Given the description of an element on the screen output the (x, y) to click on. 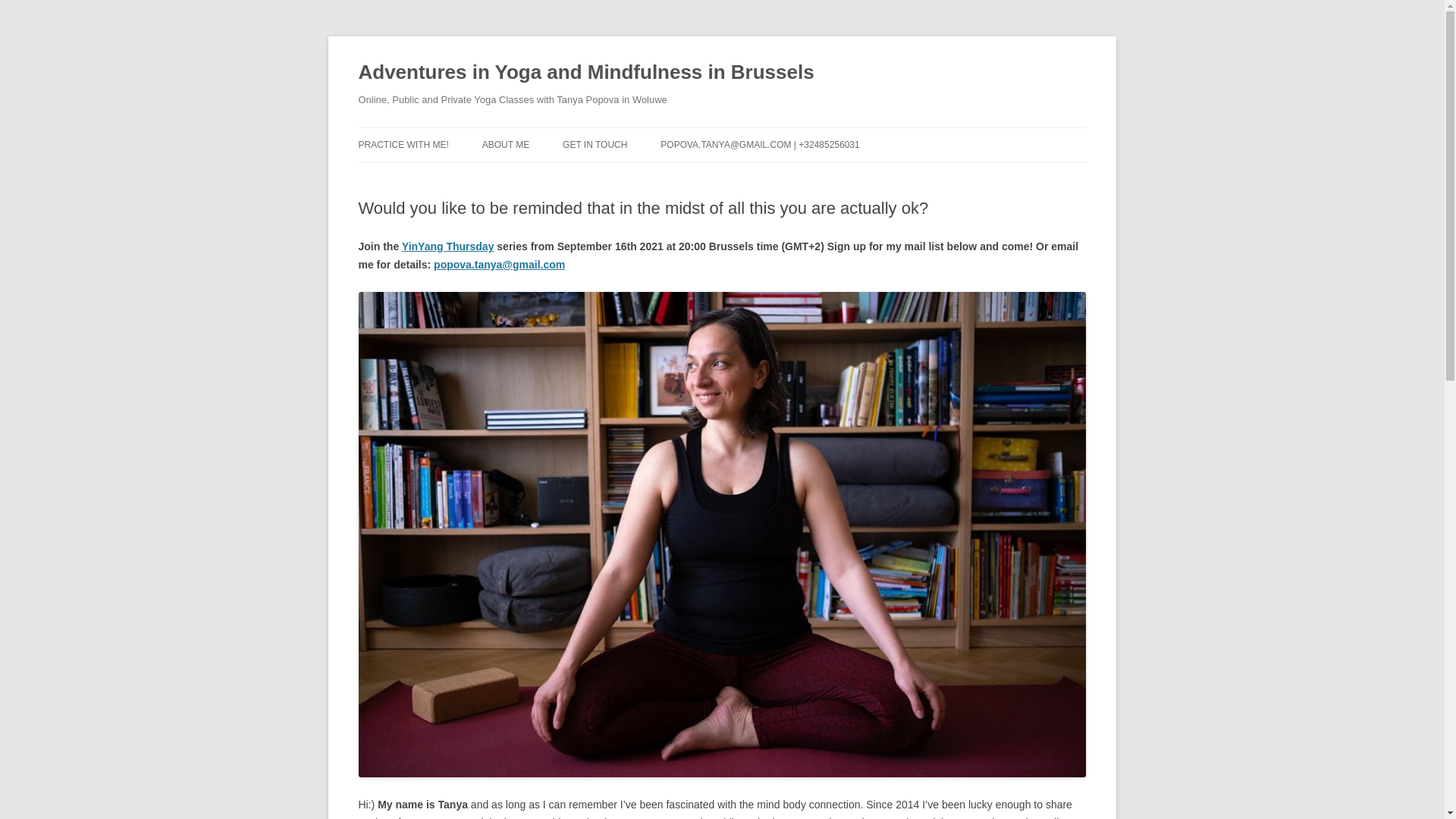
Adventures in Yoga and Mindfulness in Brussels (585, 72)
YinYang Thursday (448, 246)
GET IN TOUCH (594, 144)
Adventures in Yoga and Mindfulness in Brussels (585, 72)
PRACTICE WITH ME! (403, 144)
TEACHERS, FRIENDS AND INSPIRATION (557, 185)
ABOUT ME (505, 144)
